Given the description of an element on the screen output the (x, y) to click on. 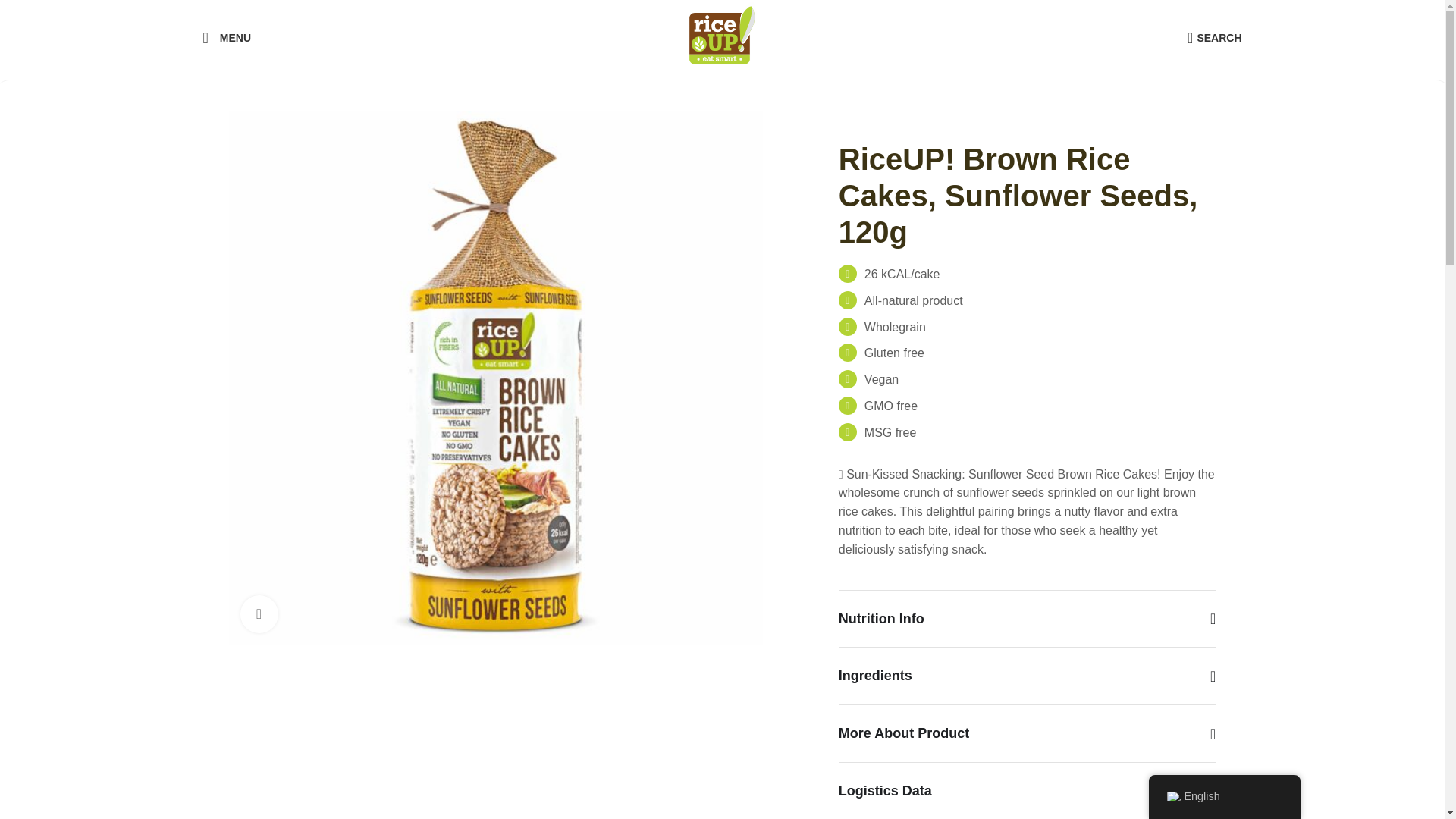
SEARCH (1213, 37)
Search (1213, 37)
English (1172, 795)
MENU (722, 38)
